Given the description of an element on the screen output the (x, y) to click on. 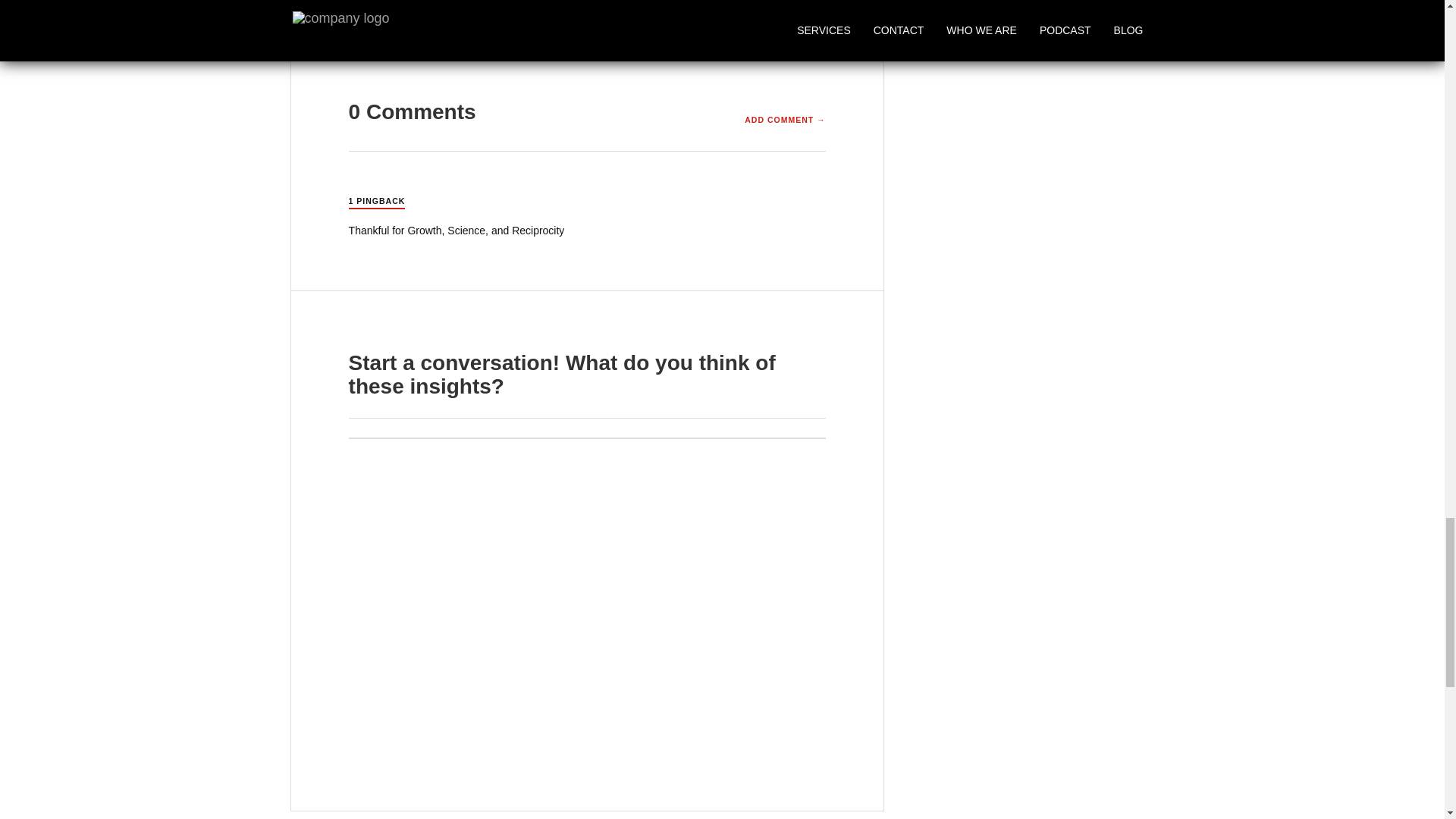
Thankful for Growth, Science, and Reciprocity (456, 230)
